Given the description of an element on the screen output the (x, y) to click on. 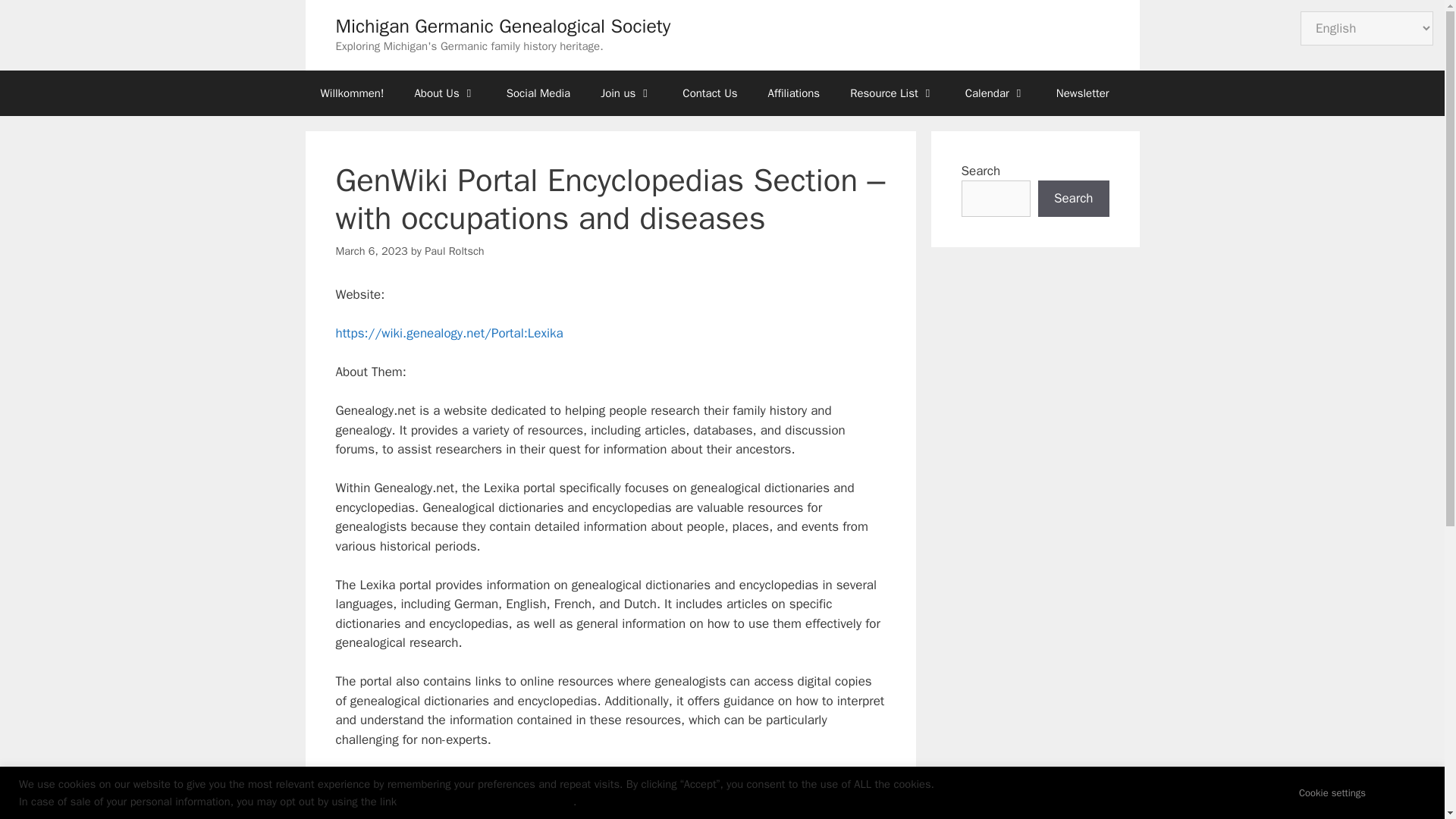
Search (1073, 198)
View all posts by Paul Roltsch (454, 250)
Michigan Germanic Genealogical Society (501, 25)
Do not sell my personal information (486, 801)
Affiliations (793, 92)
Social Media (538, 92)
Resource List (892, 92)
About Us (444, 92)
Cookie settings (1332, 792)
Join us (625, 92)
Accept (1401, 792)
Paul Roltsch (454, 250)
Newsletter (1082, 92)
Willkommen! (351, 92)
Contact Us (709, 92)
